Given the description of an element on the screen output the (x, y) to click on. 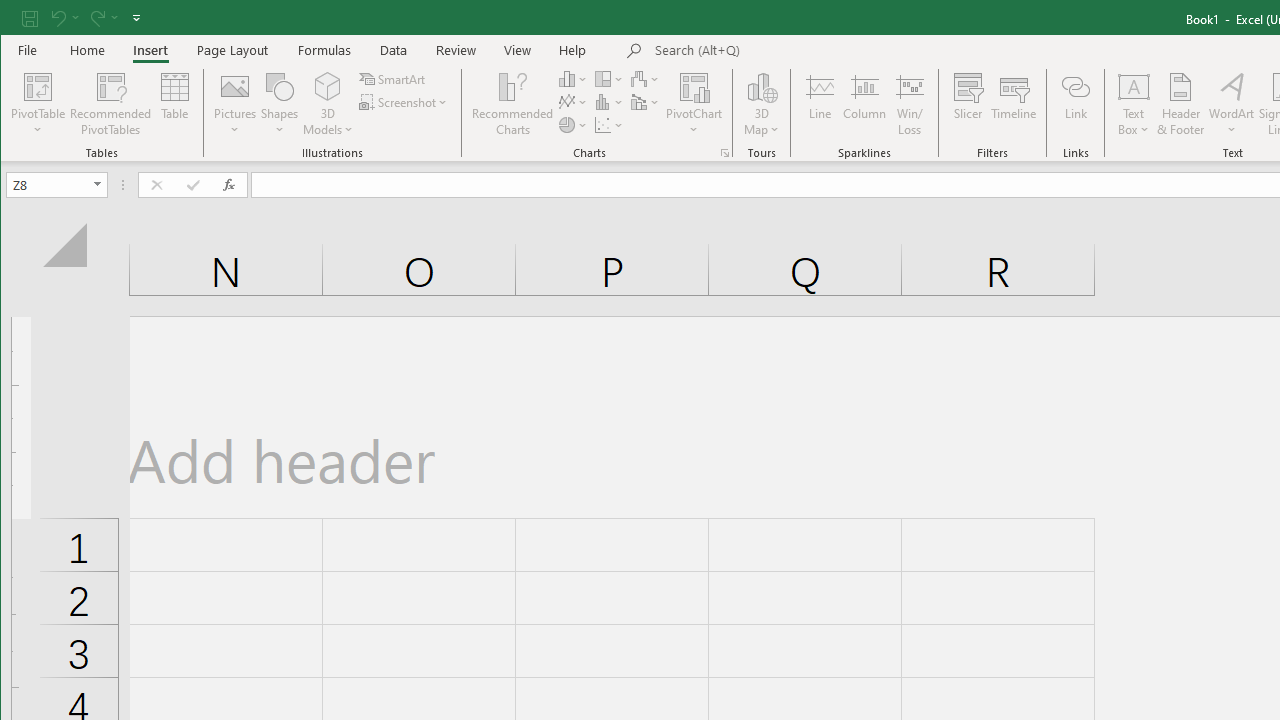
PivotChart (694, 86)
Win/Loss (909, 104)
Slicer... (968, 104)
Column (864, 104)
3D Models (327, 104)
Insert Scatter (X, Y) or Bubble Chart (609, 124)
WordArt (1231, 104)
Insert Statistic Chart (609, 101)
Table (174, 104)
Microsoft search (794, 51)
